Given the description of an element on the screen output the (x, y) to click on. 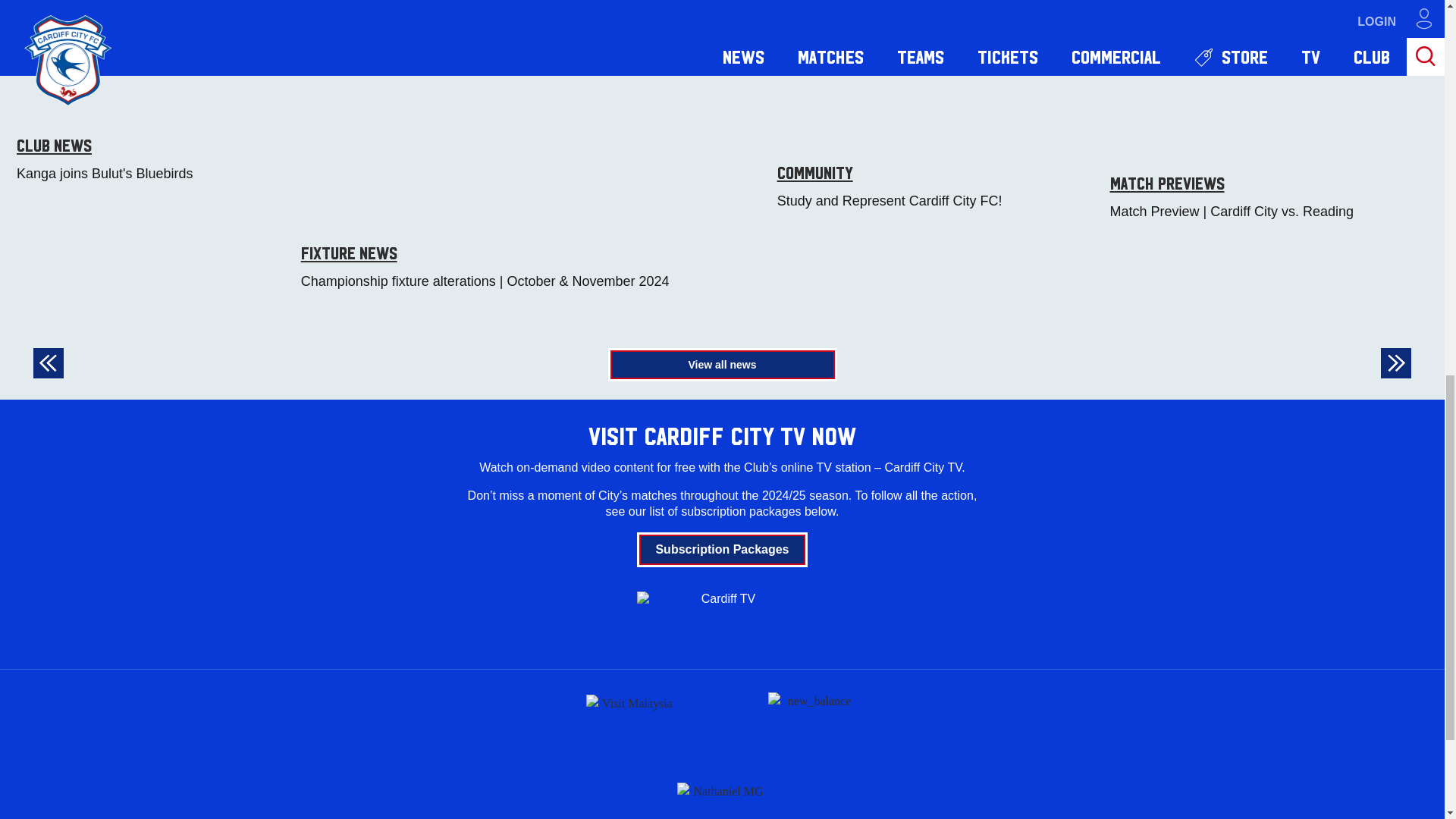
Visit Malaysia (631, 720)
Nathaniel Cars (722, 788)
New Balance (813, 720)
